Given the description of an element on the screen output the (x, y) to click on. 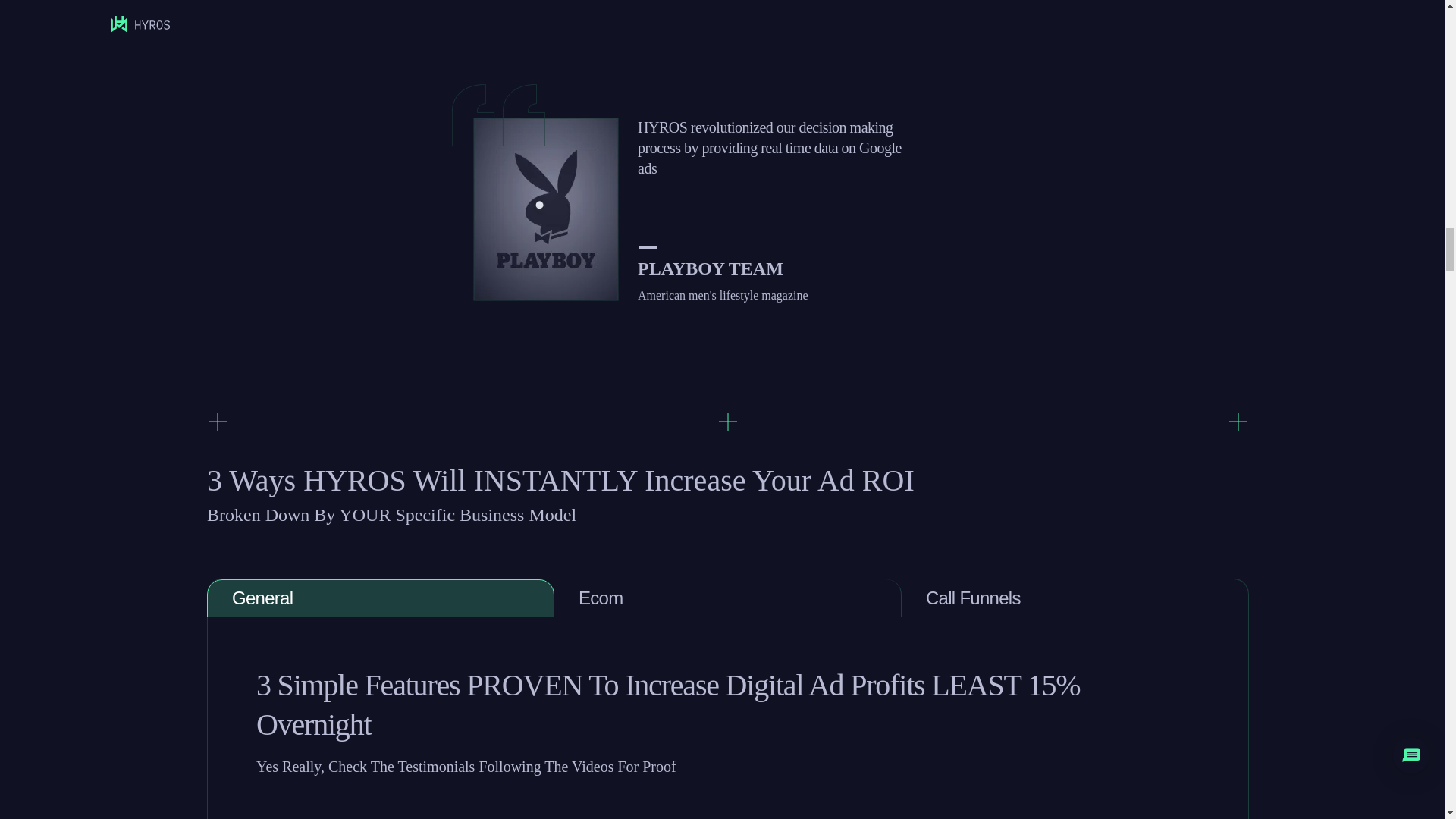
Call Funnels (1075, 598)
Ecom (727, 598)
General (380, 598)
